Given the description of an element on the screen output the (x, y) to click on. 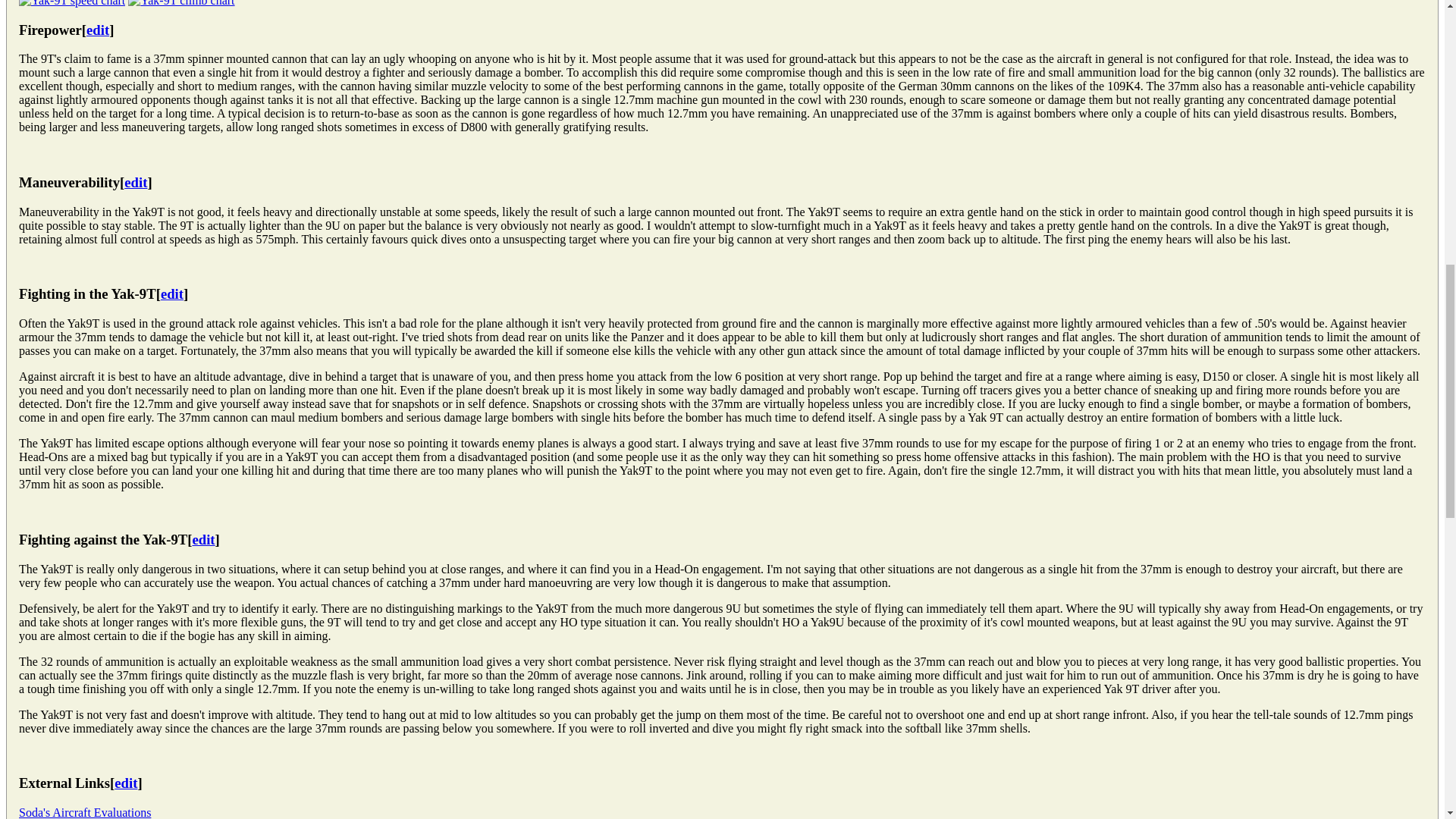
edit (97, 29)
